Given the description of an element on the screen output the (x, y) to click on. 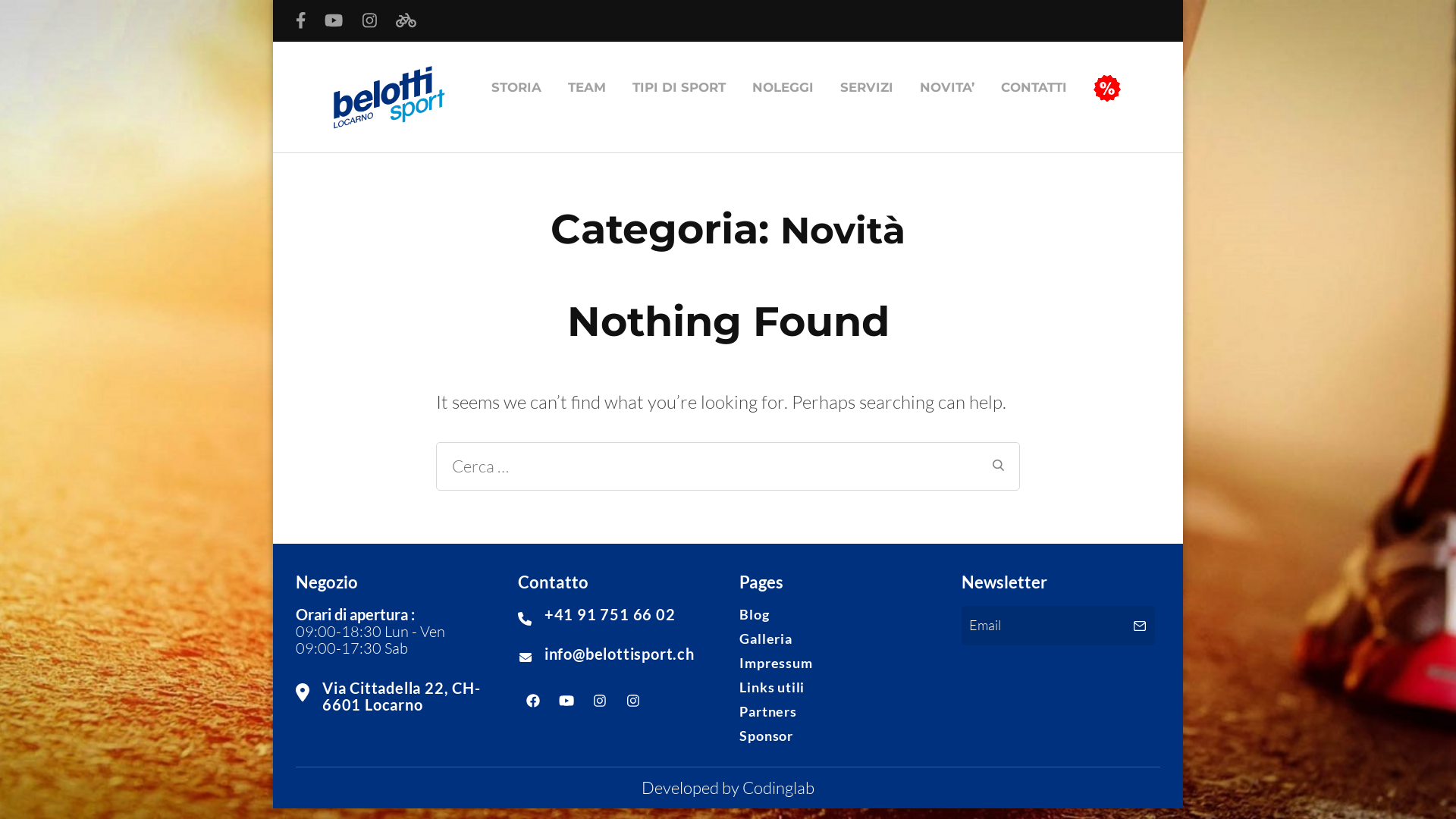
Blog Element type: text (753, 613)
Impressum Element type: text (775, 662)
Codinglab Element type: text (778, 787)
+41 91 751 66 02 Element type: text (609, 614)
SERVIZI Element type: text (865, 87)
TIPI DI SPORT Element type: text (677, 87)
Partners Element type: text (767, 710)
STORIA Element type: text (515, 87)
TEAM Element type: text (586, 87)
Sponsor Element type: text (766, 735)
CONTATTI Element type: text (1033, 87)
Abbonarsi Element type: text (1139, 626)
info@belottisport.ch Element type: text (619, 653)
Cerca Element type: text (998, 464)
Galleria Element type: text (765, 638)
NOLEGGI Element type: text (781, 87)
Links utili Element type: text (771, 686)
Belotti Sport Locarno Element type: text (449, 142)
